Given the description of an element on the screen output the (x, y) to click on. 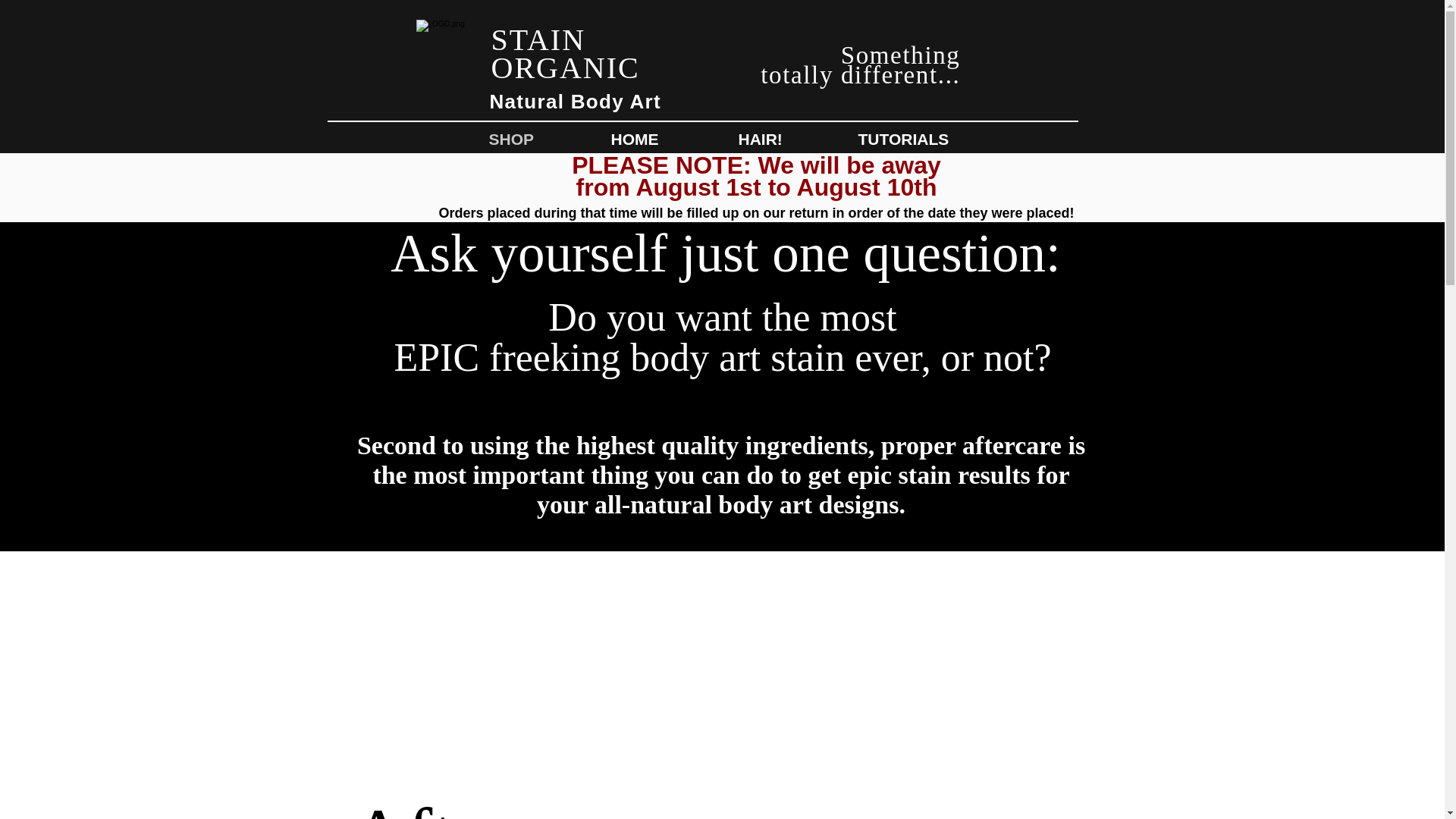
HOME (655, 139)
SHOP (531, 139)
HAIR! (778, 139)
TUTORIALS (919, 139)
